Given the description of an element on the screen output the (x, y) to click on. 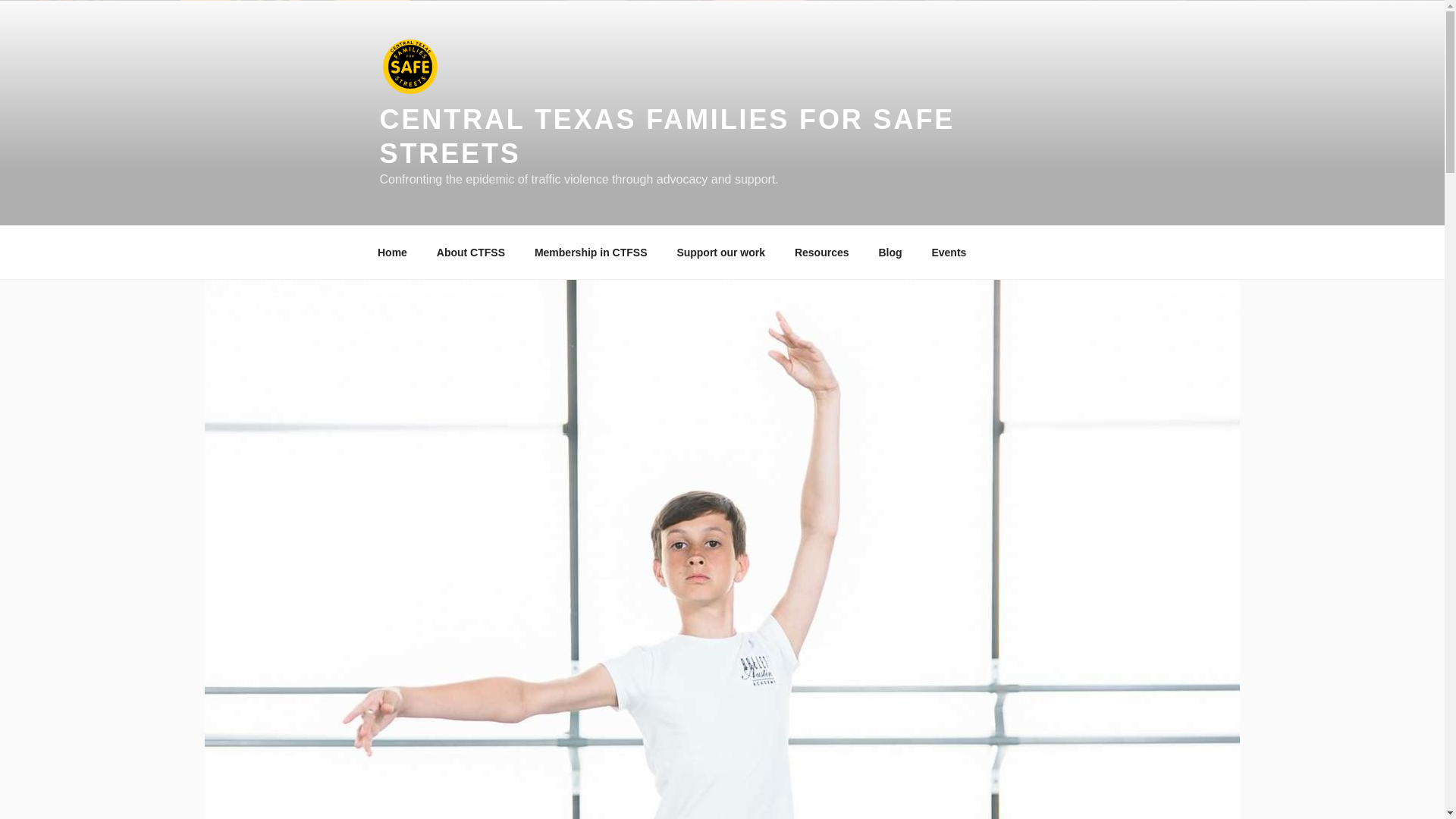
CENTRAL TEXAS FAMILIES FOR SAFE STREETS (666, 136)
Membership in CTFSS (591, 252)
Home (392, 252)
Resources (820, 252)
Events (948, 252)
About CTFSS (470, 252)
Blog (889, 252)
Support our work (720, 252)
